Given the description of an element on the screen output the (x, y) to click on. 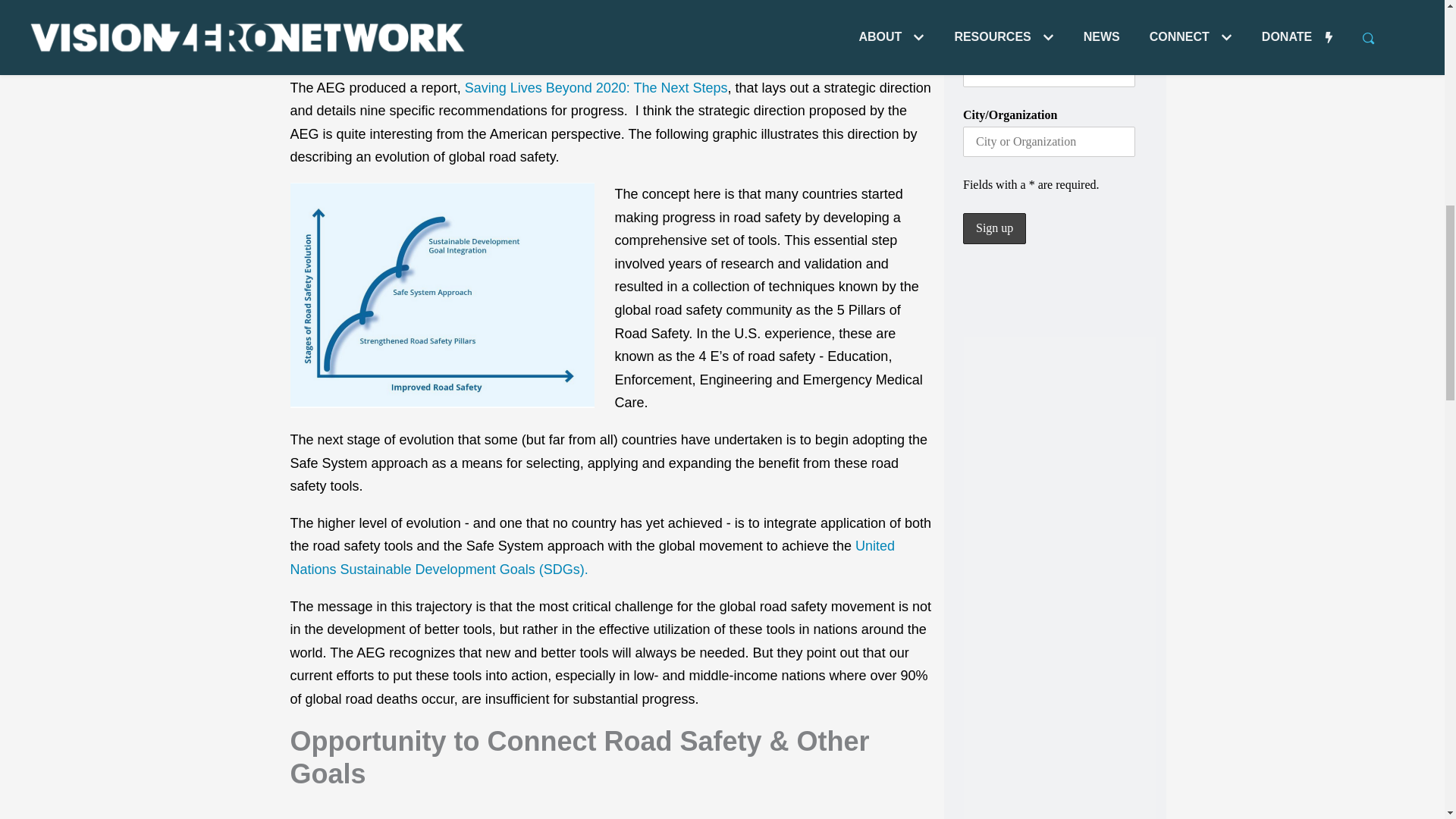
Sign up (994, 228)
